Given the description of an element on the screen output the (x, y) to click on. 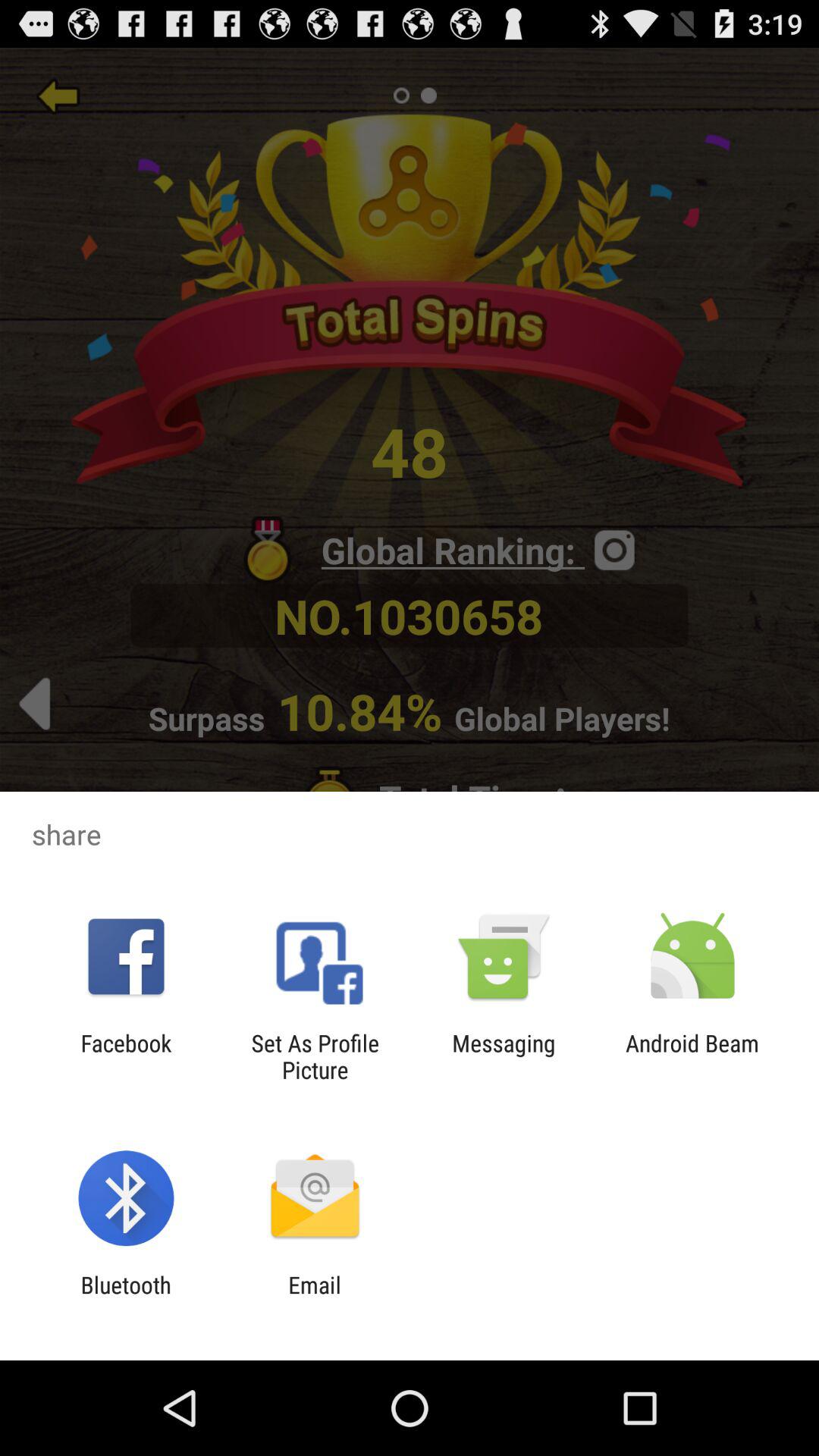
launch the item next to the messaging (692, 1056)
